Given the description of an element on the screen output the (x, y) to click on. 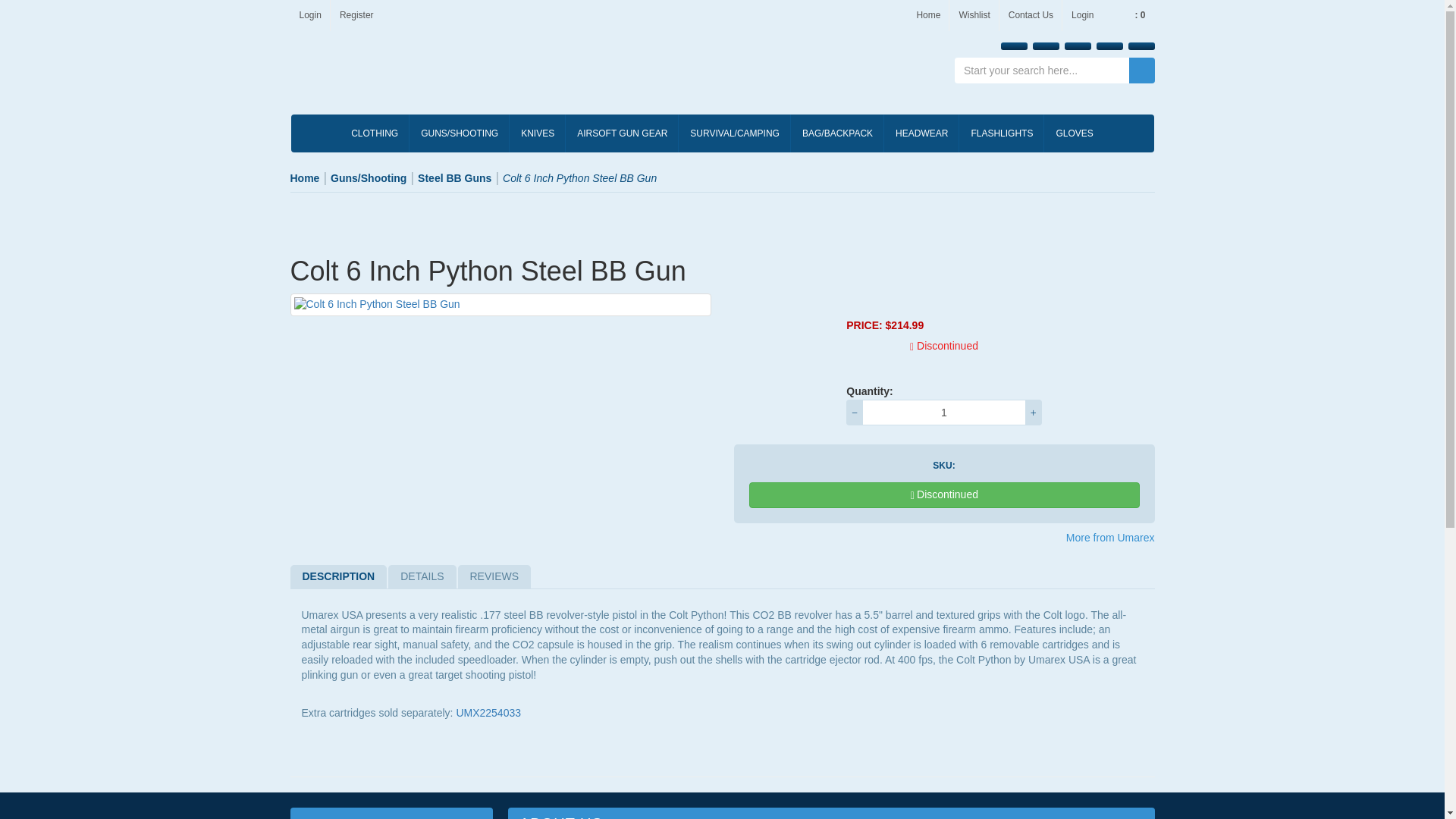
1 (943, 412)
: 0 (1128, 11)
Contact Us (1030, 15)
Valley Combat (373, 75)
Login (309, 15)
Wishlist (973, 15)
Register (356, 15)
CLOTHING (374, 133)
Login (1082, 15)
Home (928, 15)
